Given the description of an element on the screen output the (x, y) to click on. 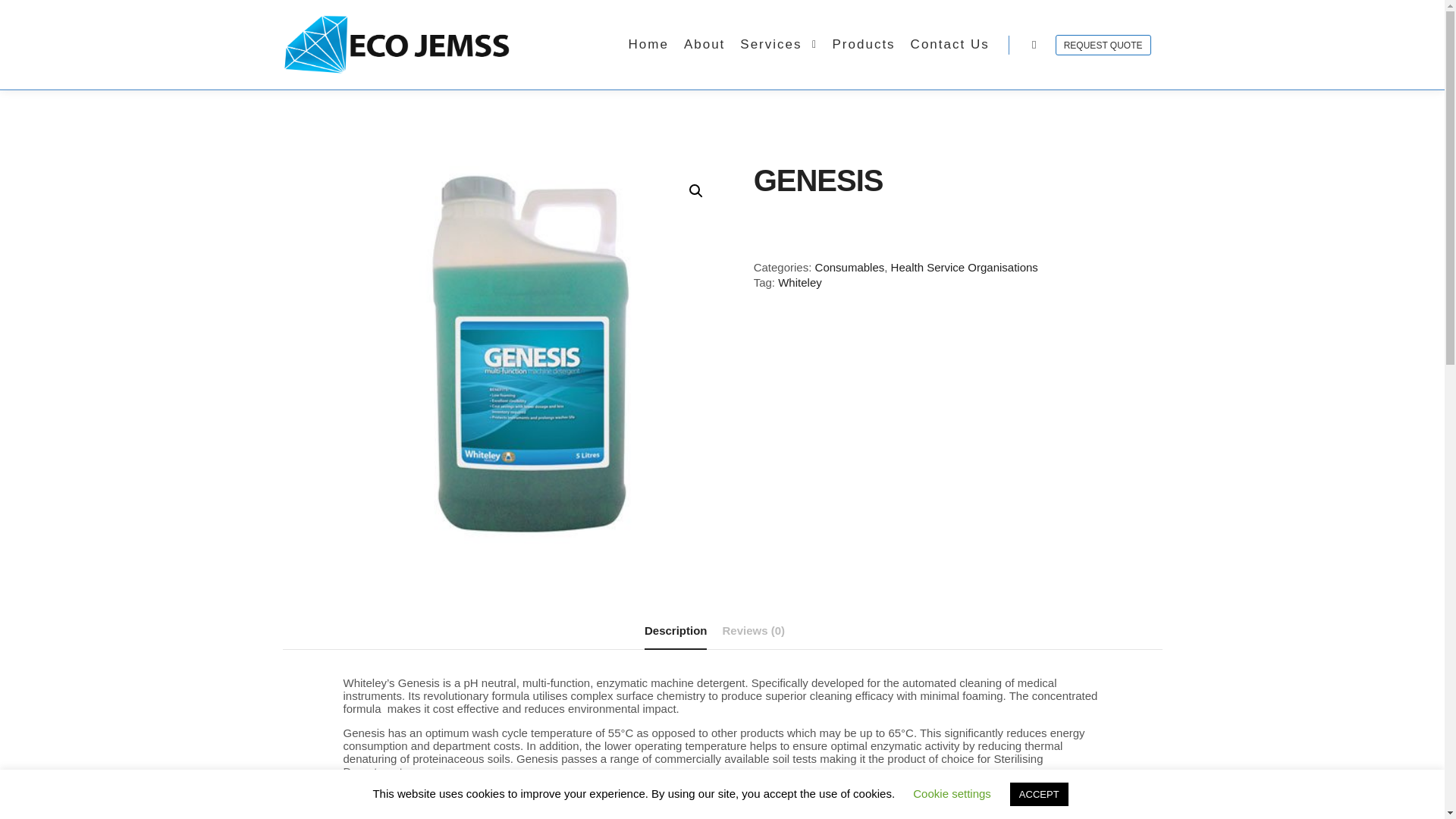
Consumables (850, 267)
Search (1034, 44)
Health Service Organisations (964, 267)
REQUEST QUOTE (1103, 45)
Whiteley (799, 282)
Contact Us (949, 44)
ECO JEMSS (395, 44)
Search (1034, 44)
Description (676, 631)
